Given the description of an element on the screen output the (x, y) to click on. 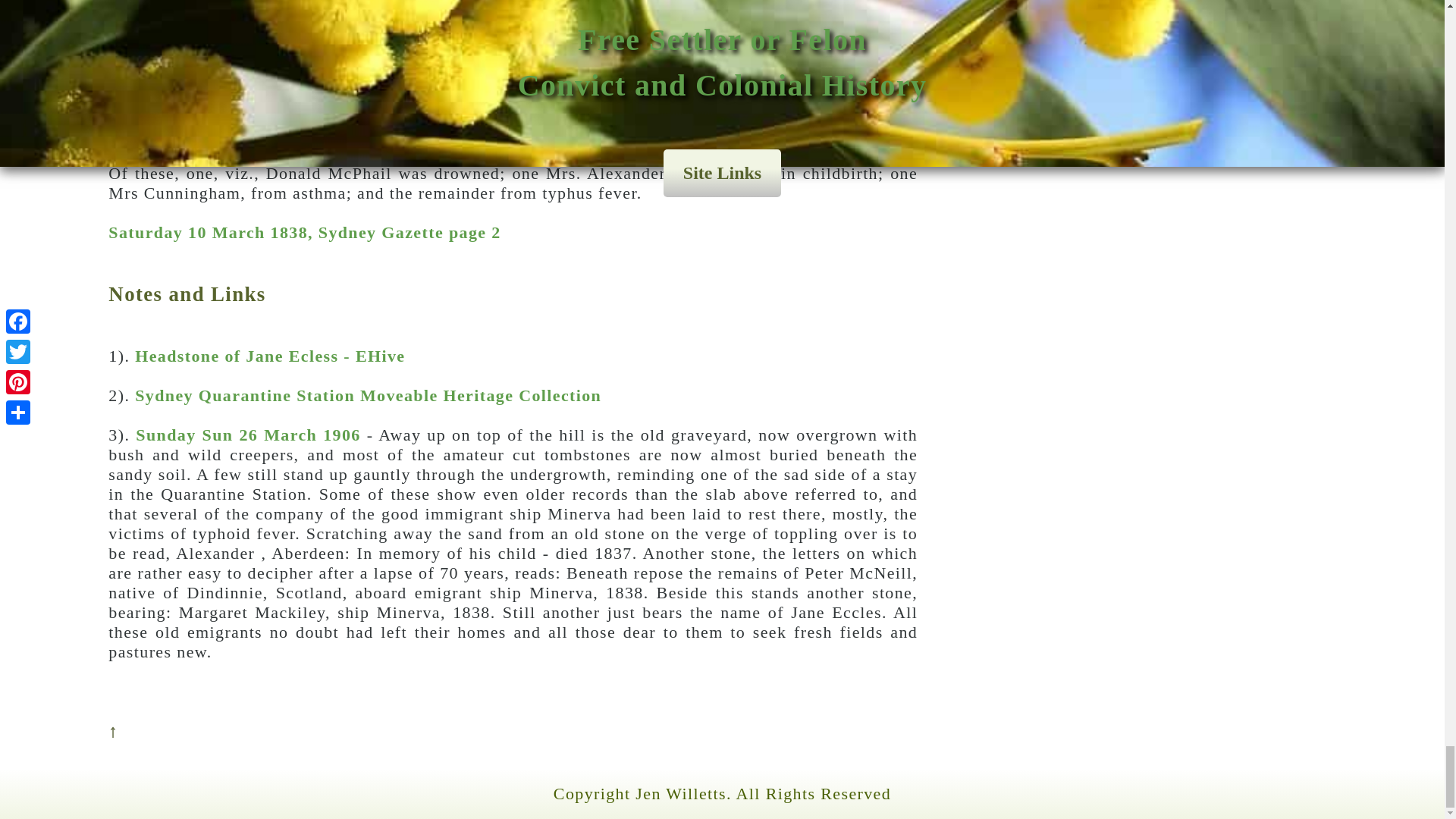
Sydney Quarantine Station Moveable Heritage Collection (368, 394)
Saturday 10 March 1838, Sydney Gazette page 2 (303, 231)
Headstone of Jane Ecless - EHive (269, 355)
Sunday Sun 26 March 1906 (247, 434)
